Given the description of an element on the screen output the (x, y) to click on. 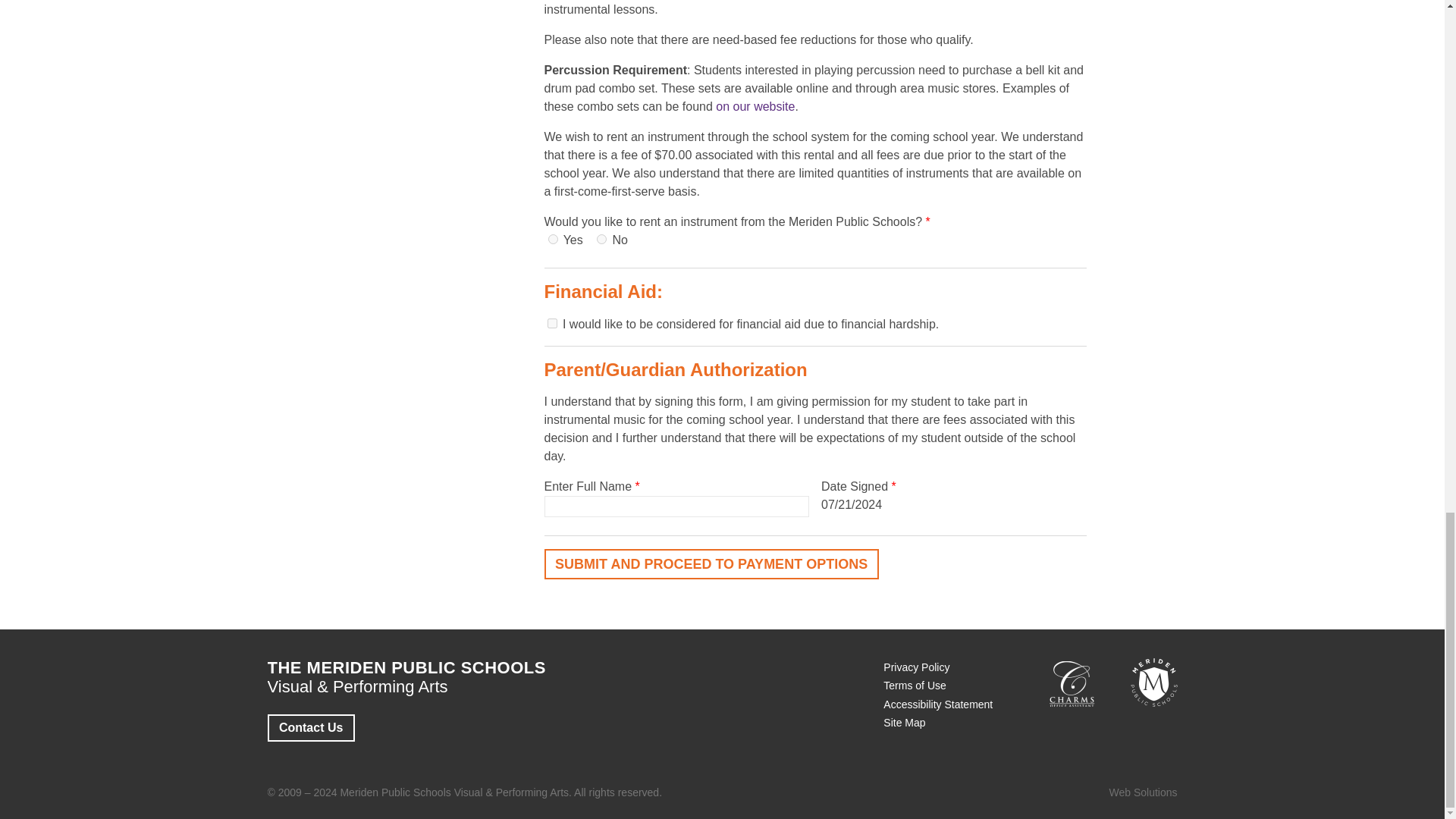
Yes (552, 239)
No (601, 239)
Yes (552, 323)
